Given the description of an element on the screen output the (x, y) to click on. 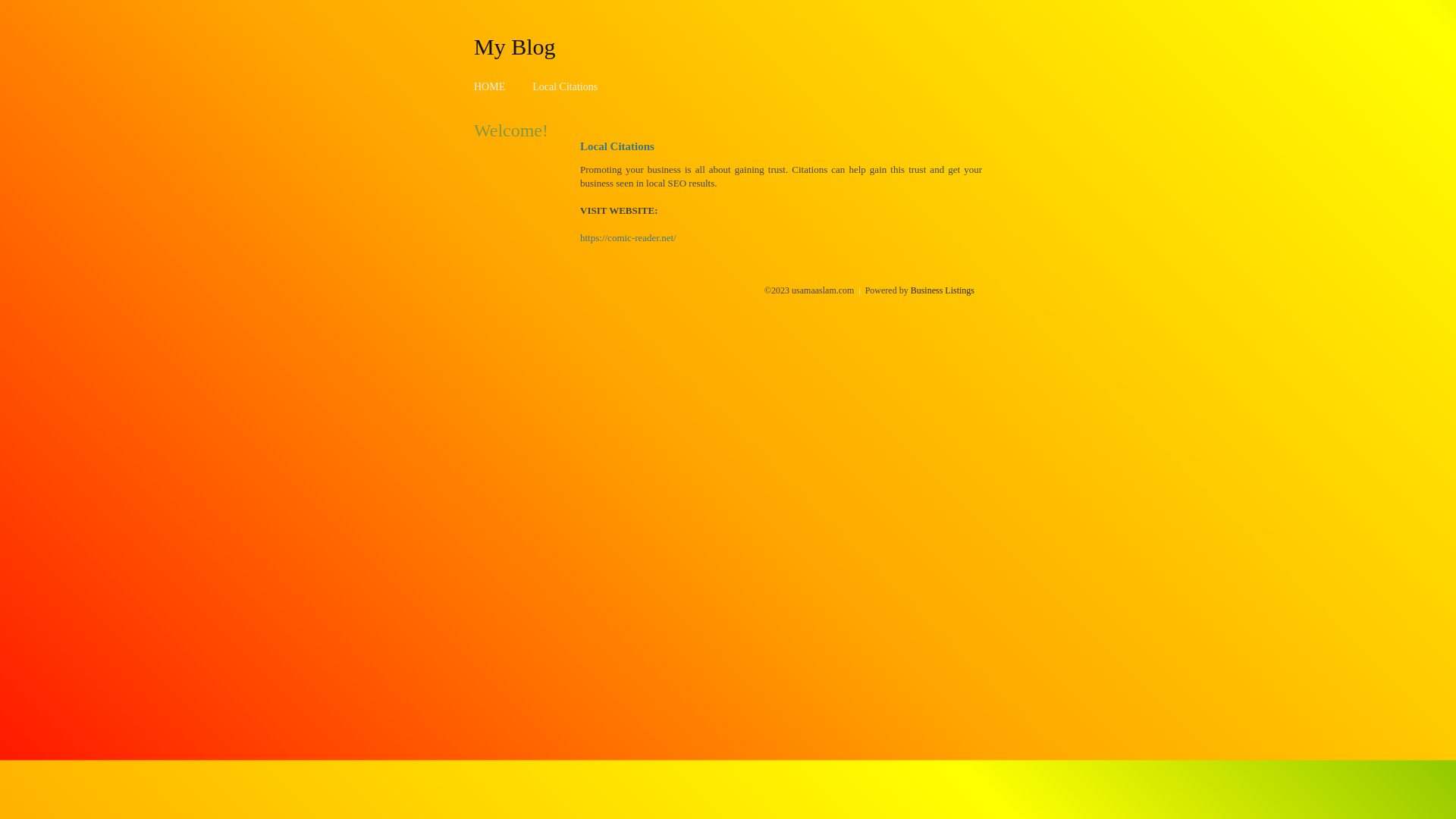
My Blog Element type: text (514, 46)
https://comic-reader.net/ Element type: text (628, 237)
Local Citations Element type: text (564, 86)
HOME Element type: text (489, 86)
Business Listings Element type: text (942, 290)
